Given the description of an element on the screen output the (x, y) to click on. 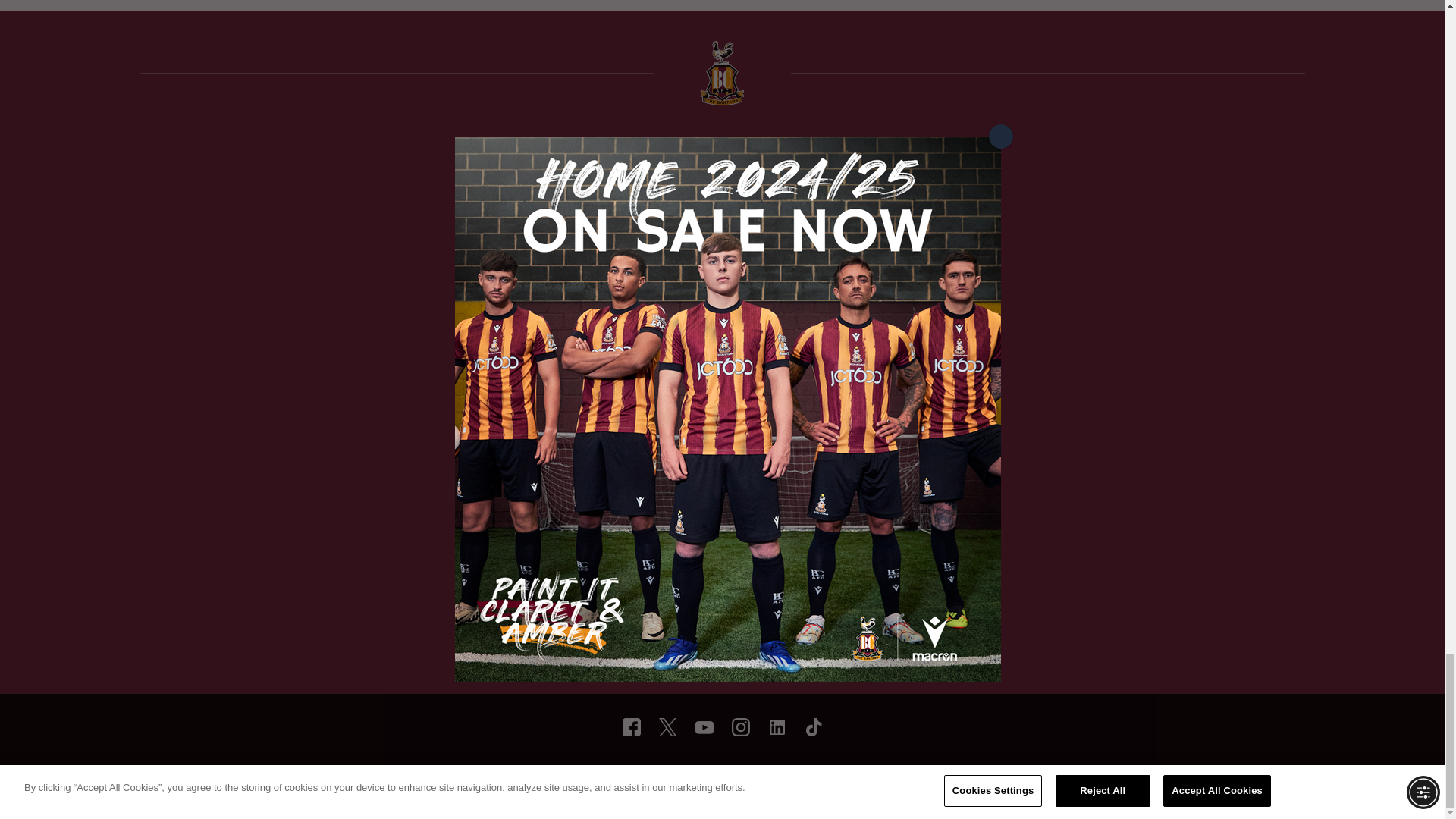
Accessibility (719, 779)
Privacy Policy (648, 779)
Terms of Use (575, 779)
Company Details (796, 779)
Bradford City AFC (776, 727)
Contact Us (872, 779)
officialbantams (630, 727)
